Given the description of an element on the screen output the (x, y) to click on. 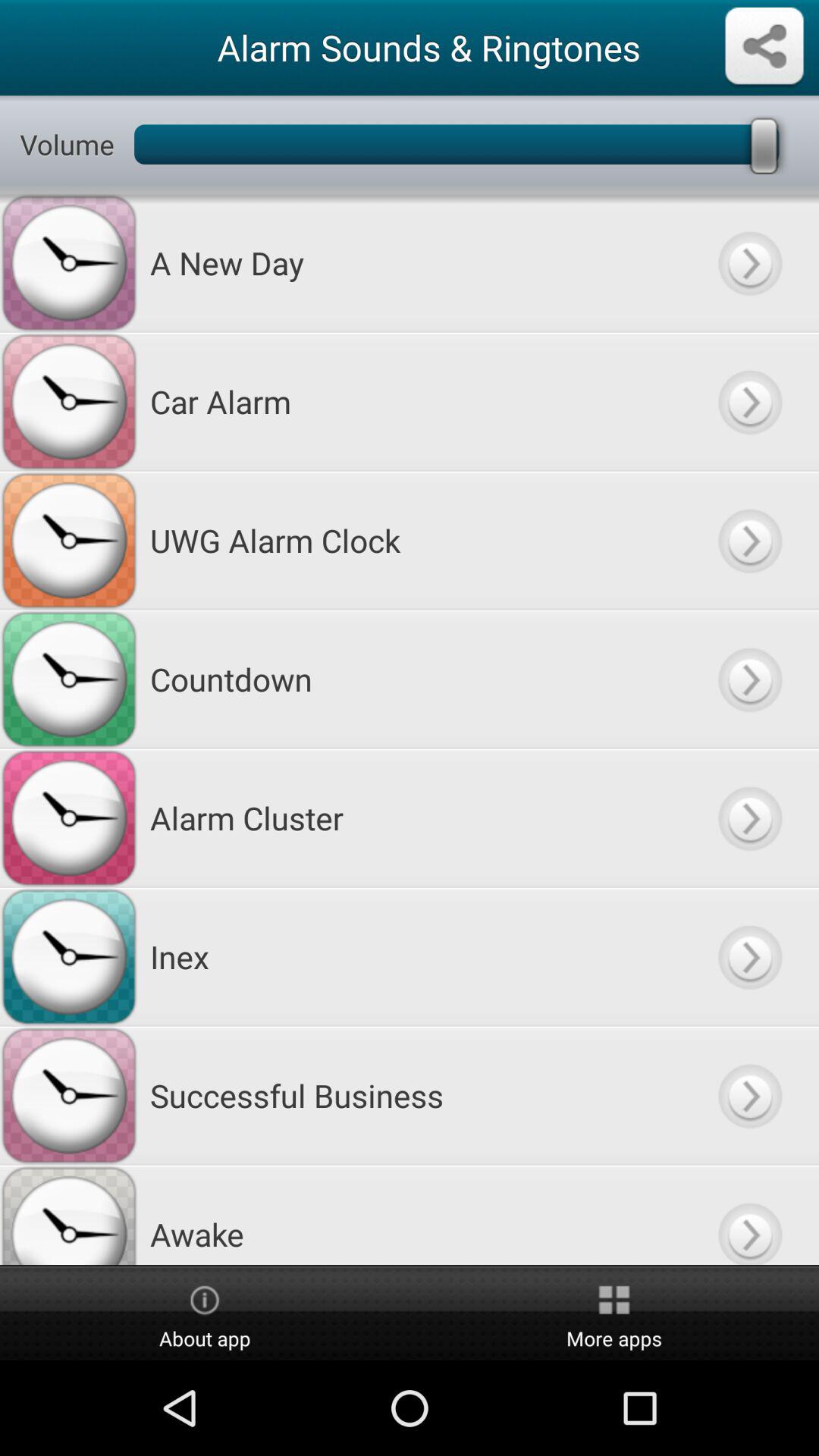
back ware (749, 262)
